Given the description of an element on the screen output the (x, y) to click on. 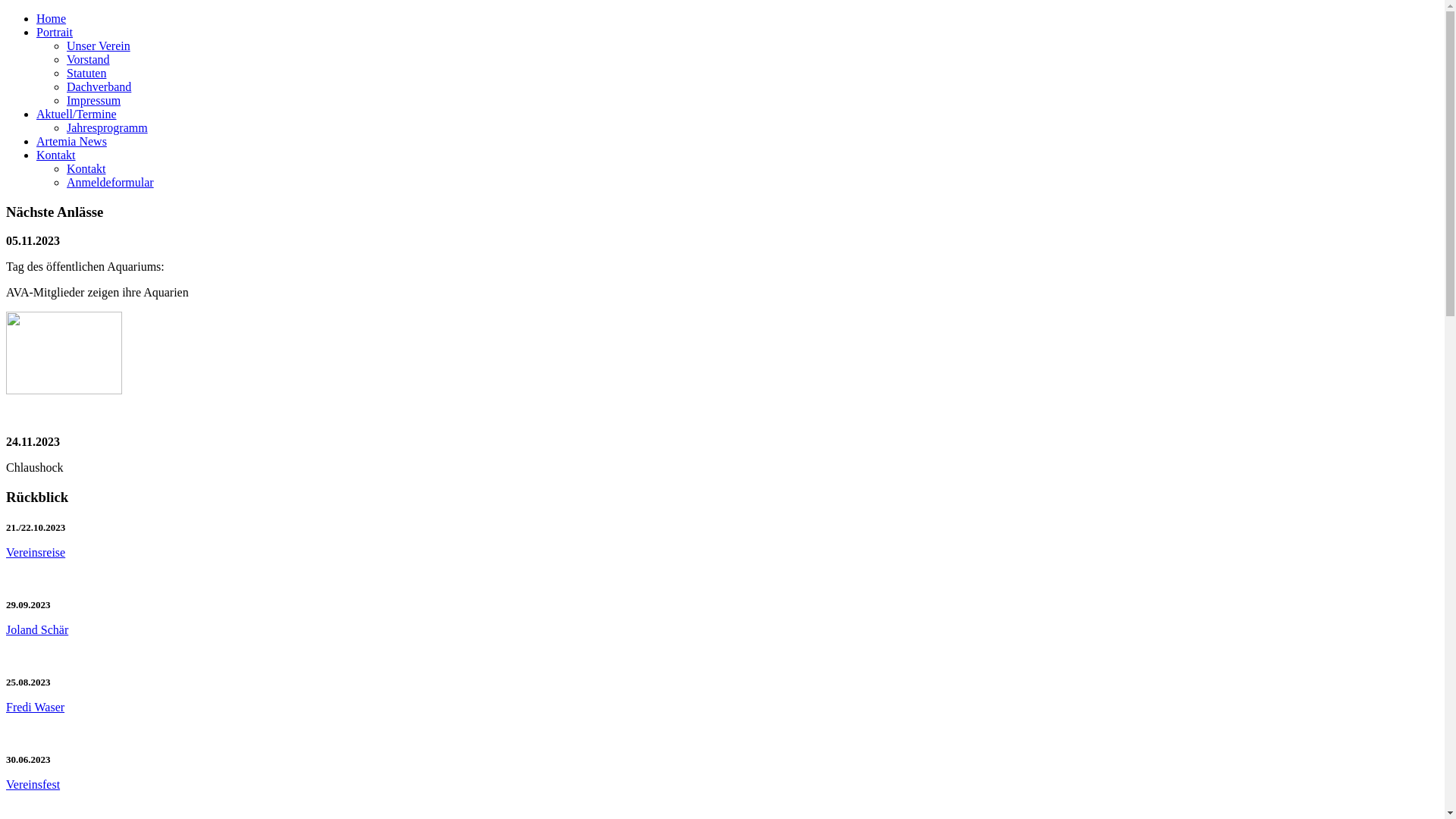
Aktuell/Termine Element type: text (76, 113)
Kontakt Element type: text (86, 168)
Jahresprogramm Element type: text (106, 127)
Vorstand Element type: text (87, 59)
Vereinsreise Element type: text (35, 552)
Kontakt Element type: text (55, 154)
Portrait Element type: text (54, 31)
Anmeldeformular Element type: text (109, 181)
Artemia News Element type: text (71, 140)
Impressum Element type: text (93, 100)
Fredi Waser Element type: text (35, 706)
Dachverband Element type: text (98, 86)
Statuten Element type: text (86, 72)
Unser Verein Element type: text (98, 45)
Vereinsfest Element type: text (32, 784)
Home Element type: text (50, 18)
